Given the description of an element on the screen output the (x, y) to click on. 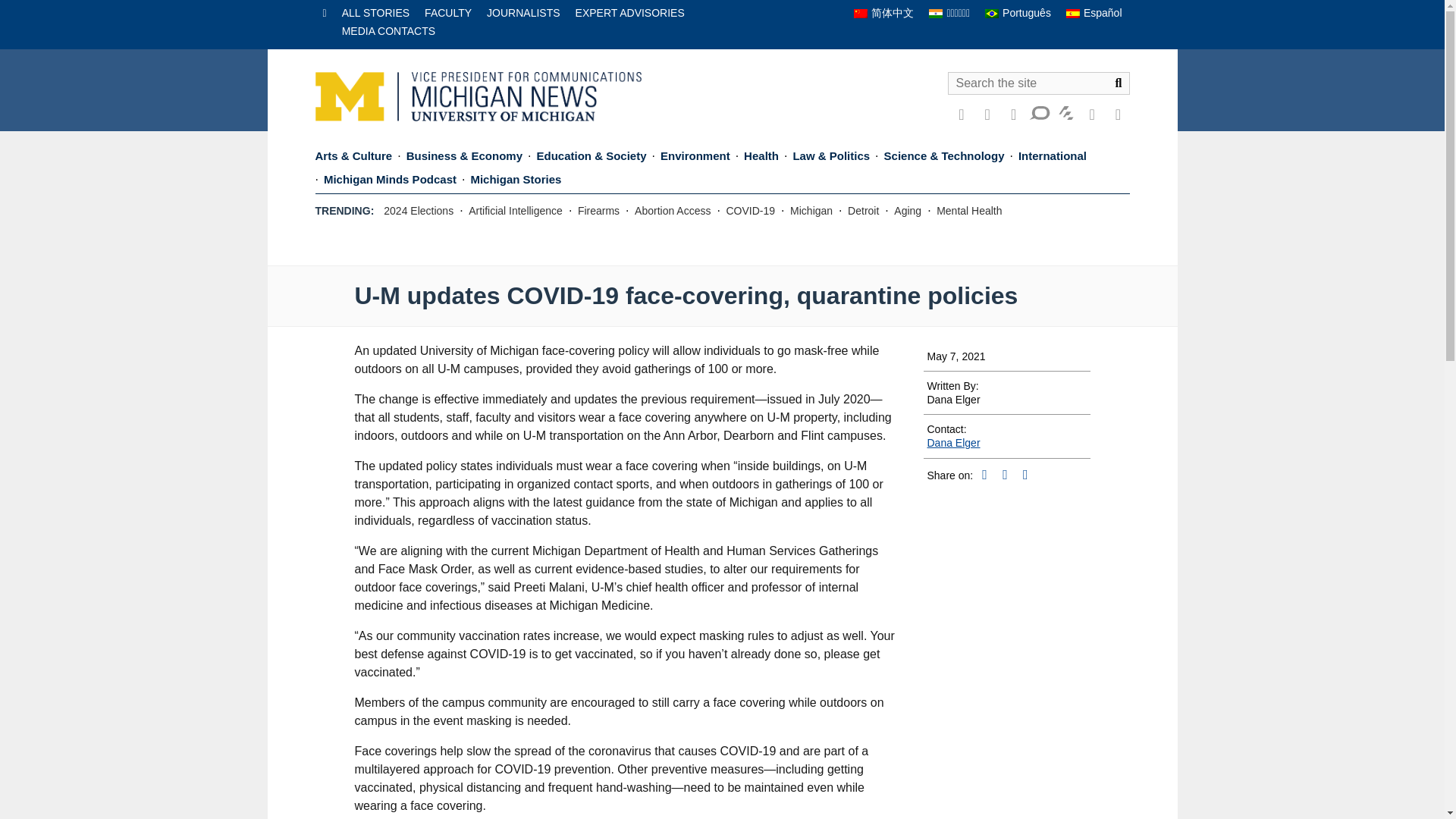
Michigan Minds Podcast (390, 181)
2024 Elections (418, 210)
Dana Elger (952, 442)
Health (761, 157)
Share on Facebook (1004, 475)
Environment (695, 157)
YouTube (1014, 114)
Mental Health (968, 210)
FACULTY (448, 12)
Detroit (863, 210)
